Given the description of an element on the screen output the (x, y) to click on. 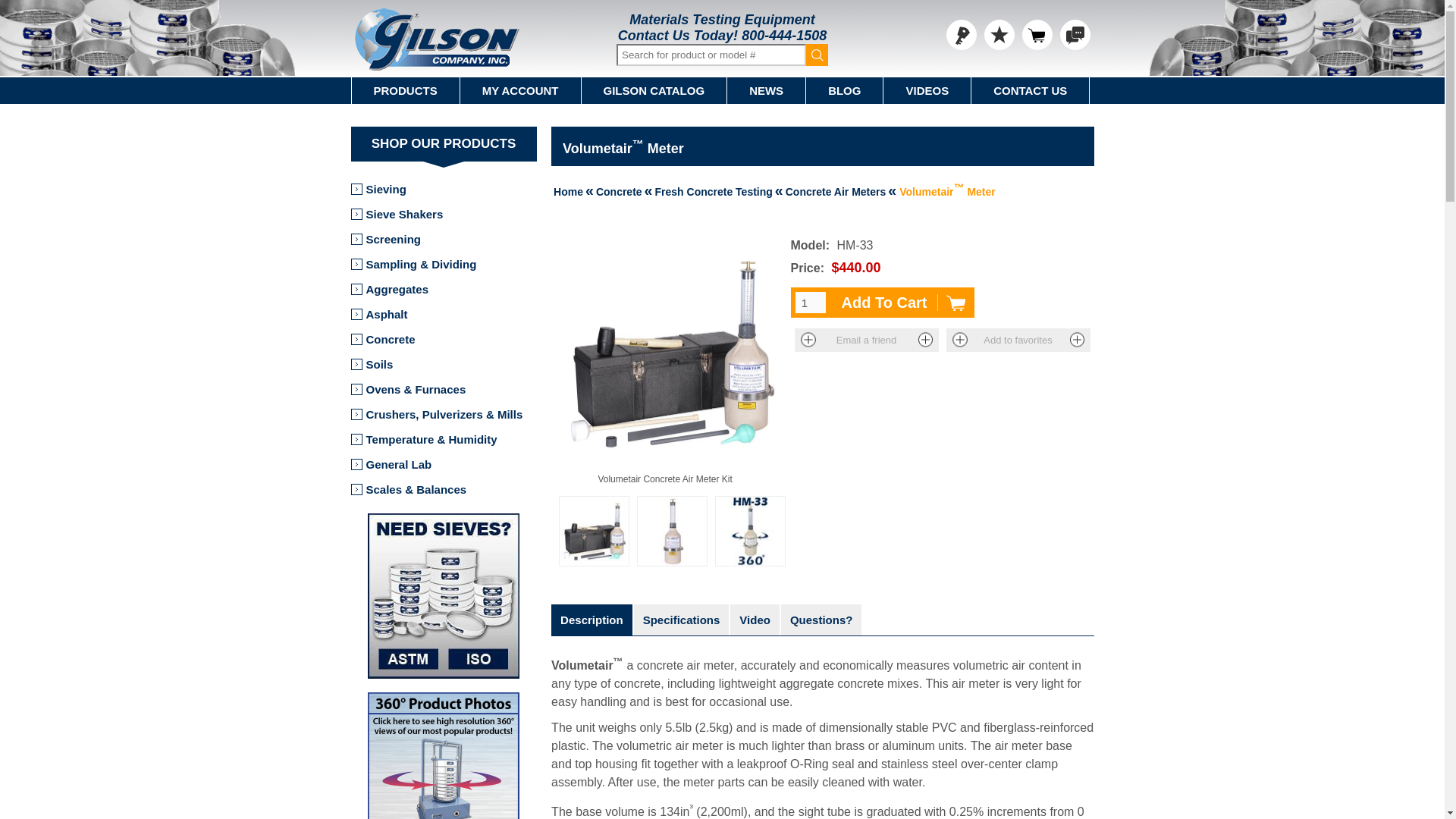
Gilson Chat (1074, 34)
1 (809, 301)
NEWS (766, 90)
MY ACCOUNT (520, 90)
Favorites List (999, 34)
Search (817, 55)
Email a friend (866, 340)
Log in (961, 34)
Gilson Chat (1074, 34)
GILSON CATALOG (654, 90)
